Given the description of an element on the screen output the (x, y) to click on. 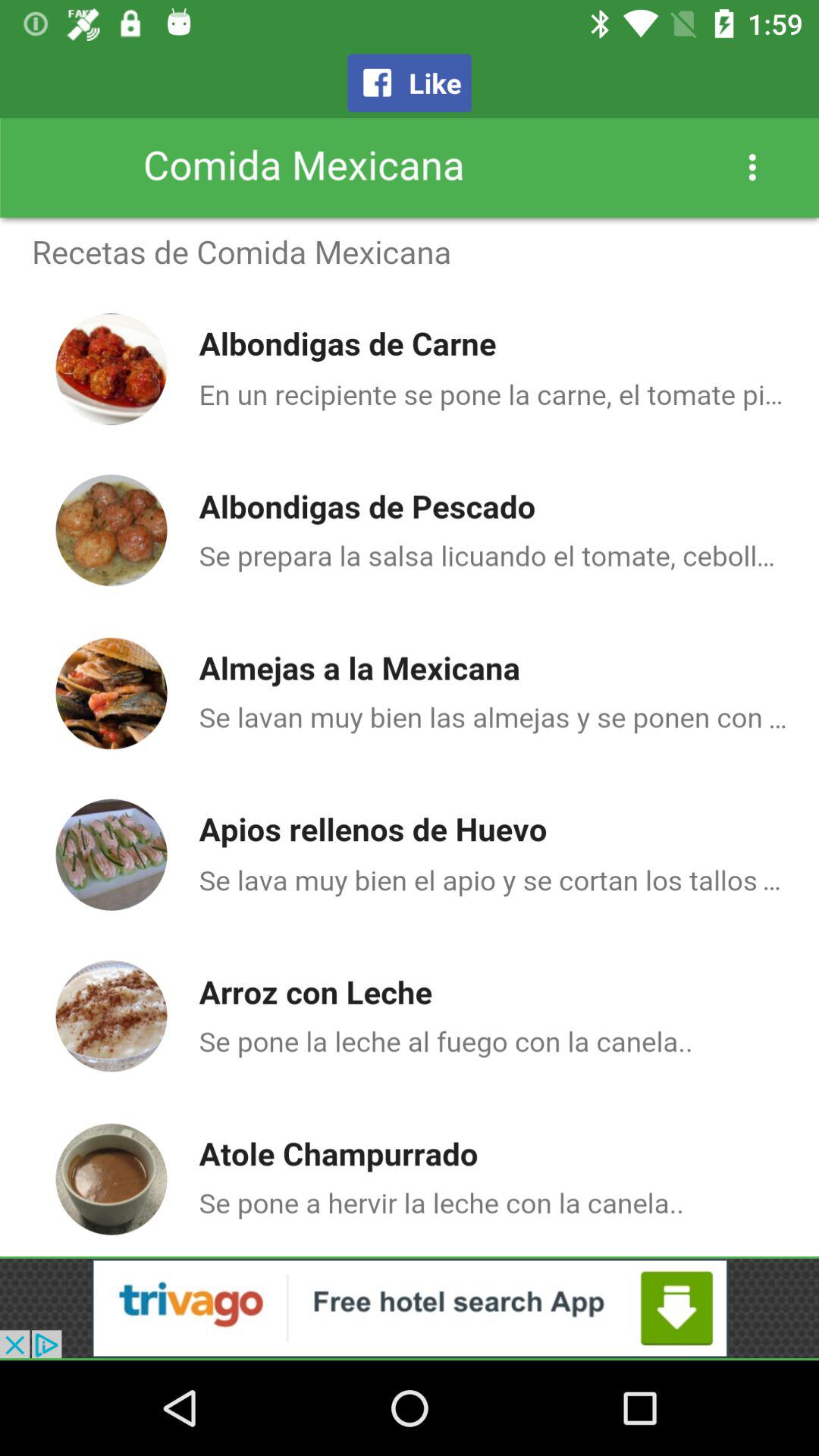
go to advertisement (409, 1308)
